Given the description of an element on the screen output the (x, y) to click on. 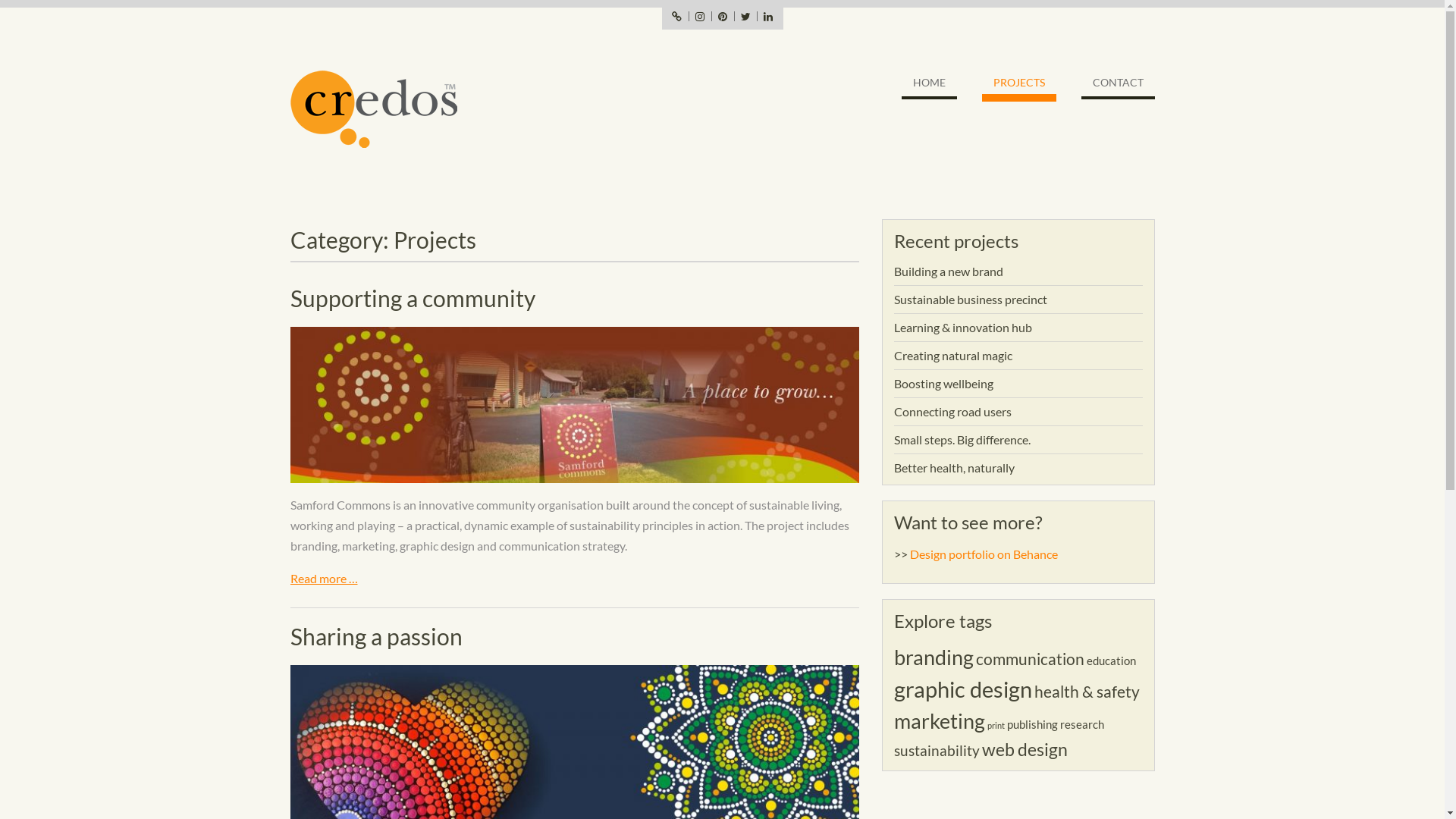
Building a new brand Element type: text (947, 270)
Twitter Element type: text (745, 16)
Small steps. Big difference. Element type: text (961, 439)
graphic design Element type: text (962, 688)
LinkedIn profile Element type: text (767, 16)
sustainability Element type: text (936, 750)
Pinterest Element type: text (722, 16)
CONTACT Element type: text (1117, 85)
Creating natural magic Element type: text (952, 355)
Better health, naturally Element type: text (953, 467)
Portfolio Element type: text (676, 16)
Instagram Element type: text (699, 16)
education Element type: text (1110, 660)
branding Element type: text (932, 657)
print Element type: text (995, 725)
publishing Element type: text (1032, 724)
Supporting a community Element type: text (411, 297)
Learning & innovation hub Element type: text (962, 327)
communication Element type: text (1029, 658)
Boosting wellbeing Element type: text (942, 383)
Connecting road users Element type: text (951, 411)
Design portfolio on Behance Element type: text (983, 553)
marketing Element type: text (938, 721)
Sustainable business precinct Element type: text (969, 298)
health & safety Element type: text (1086, 691)
HOME Element type: text (928, 85)
PROJECTS Element type: text (1018, 85)
web design Element type: text (1023, 748)
Sharing a passion Element type: text (375, 635)
research Element type: text (1082, 724)
